Given the description of an element on the screen output the (x, y) to click on. 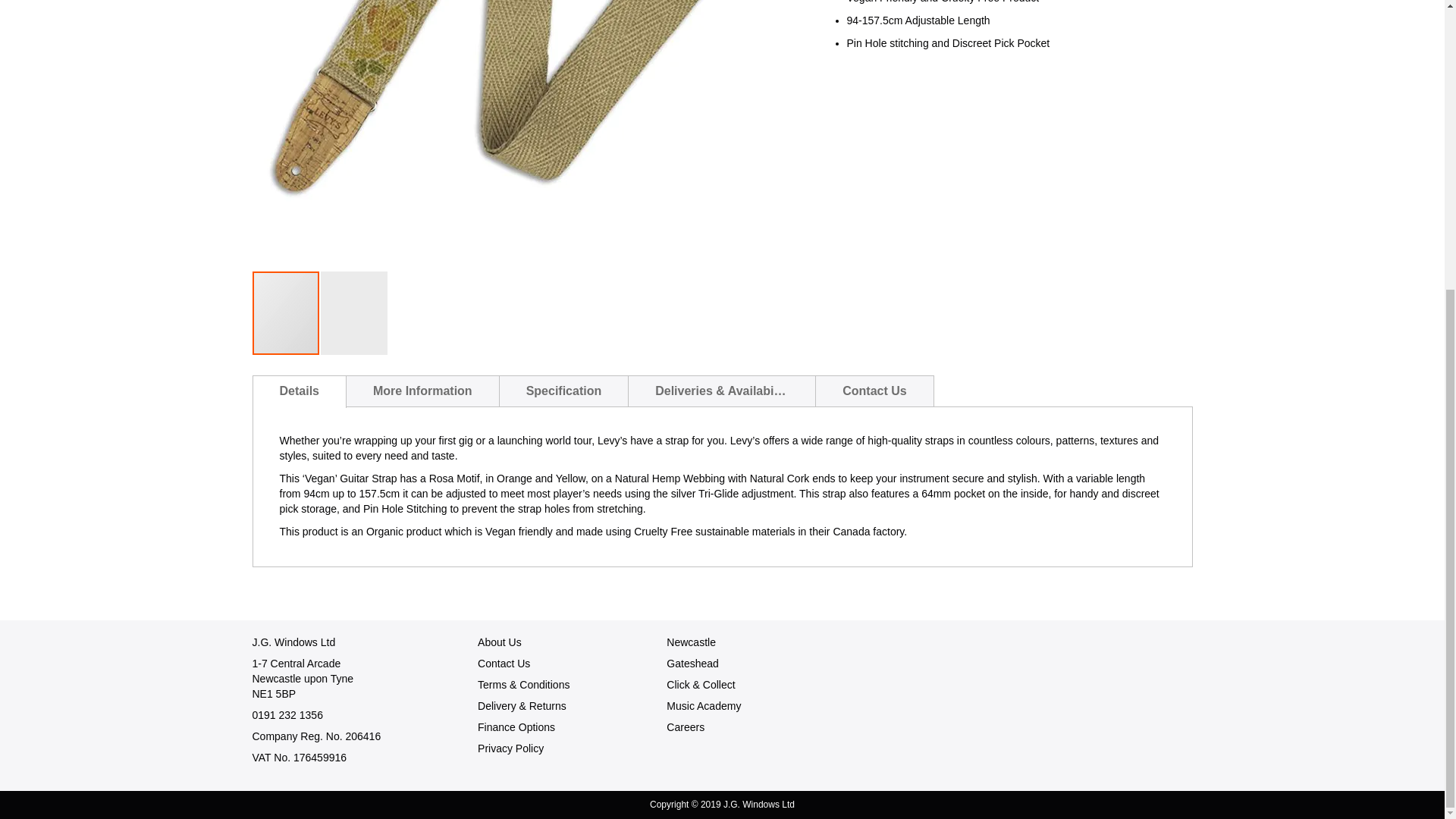
Gateshead (692, 663)
Newcastle (691, 642)
